Given the description of an element on the screen output the (x, y) to click on. 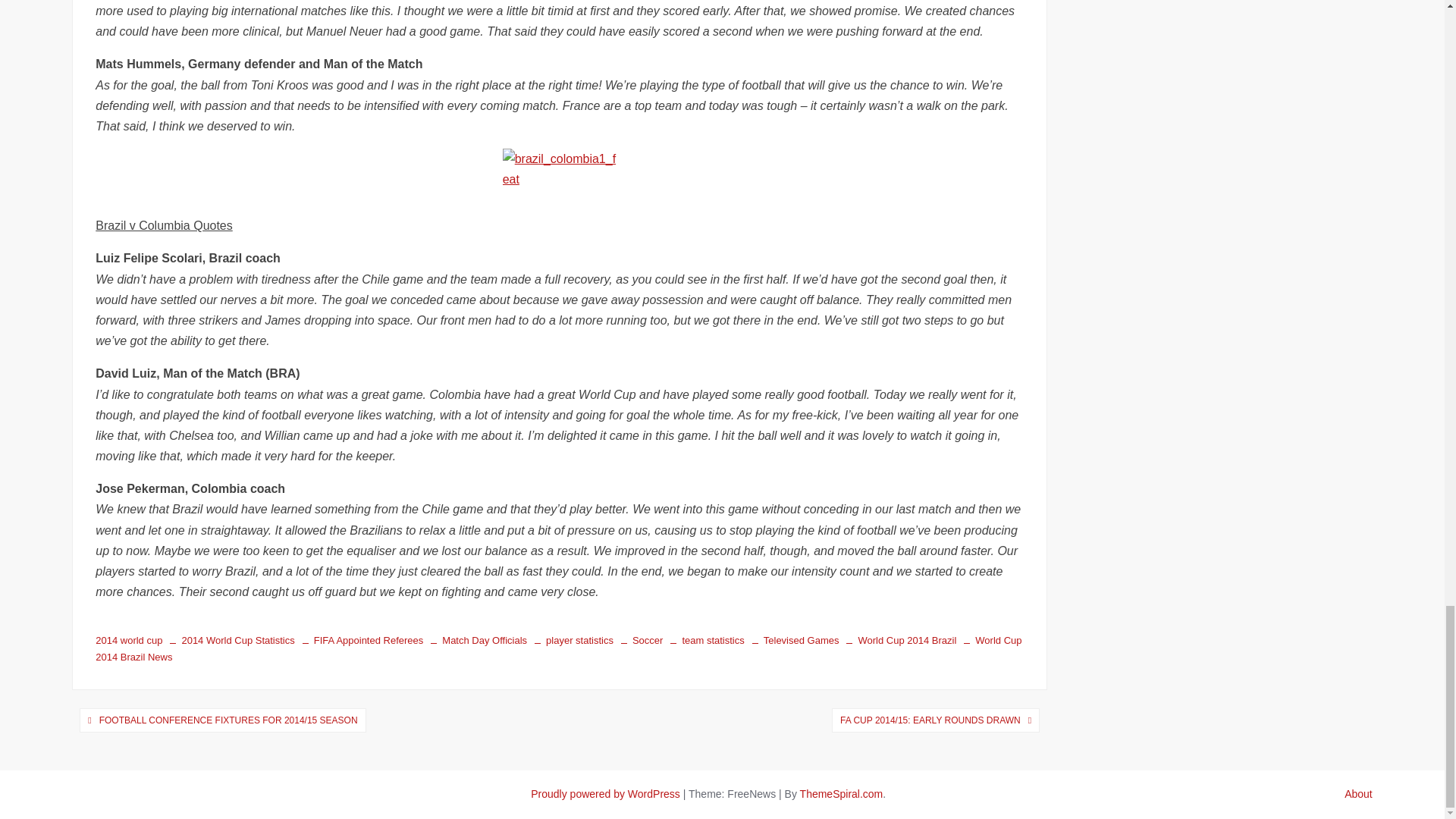
Soccer (637, 640)
player statistics (569, 640)
FIFA Appointed Referees (359, 640)
2014 World Cup Statistics (227, 640)
Match Day Officials (475, 640)
2014 world cup (128, 640)
team statistics (703, 640)
